Given the description of an element on the screen output the (x, y) to click on. 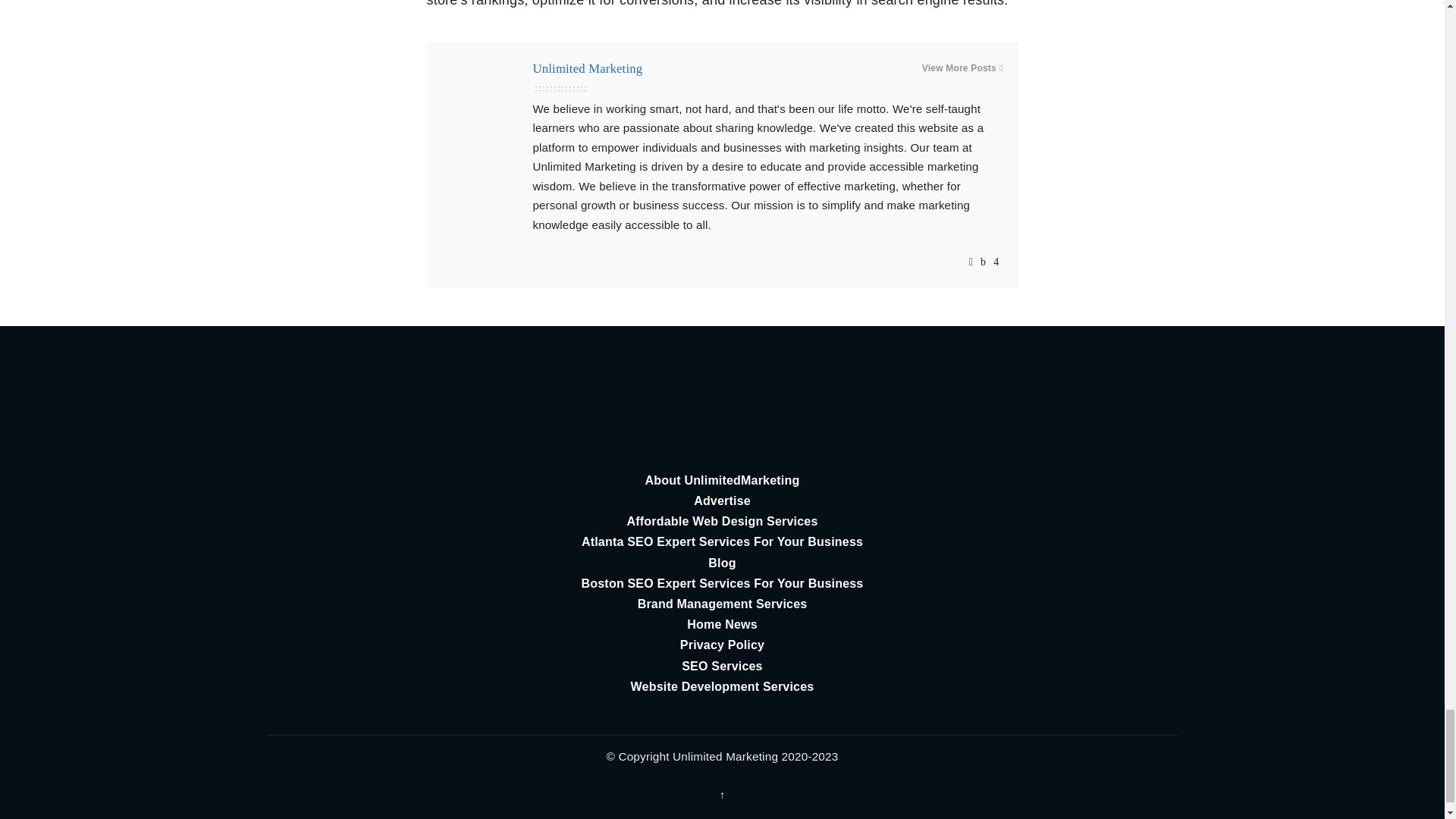
View More Posts (962, 68)
Unlimited Marketing (587, 68)
Affordable Web Design Services (722, 521)
Blog (722, 562)
Advertise (722, 500)
Atlanta SEO Expert Services For Your Business (722, 541)
About UnlimitedMarketing (722, 480)
